Given the description of an element on the screen output the (x, y) to click on. 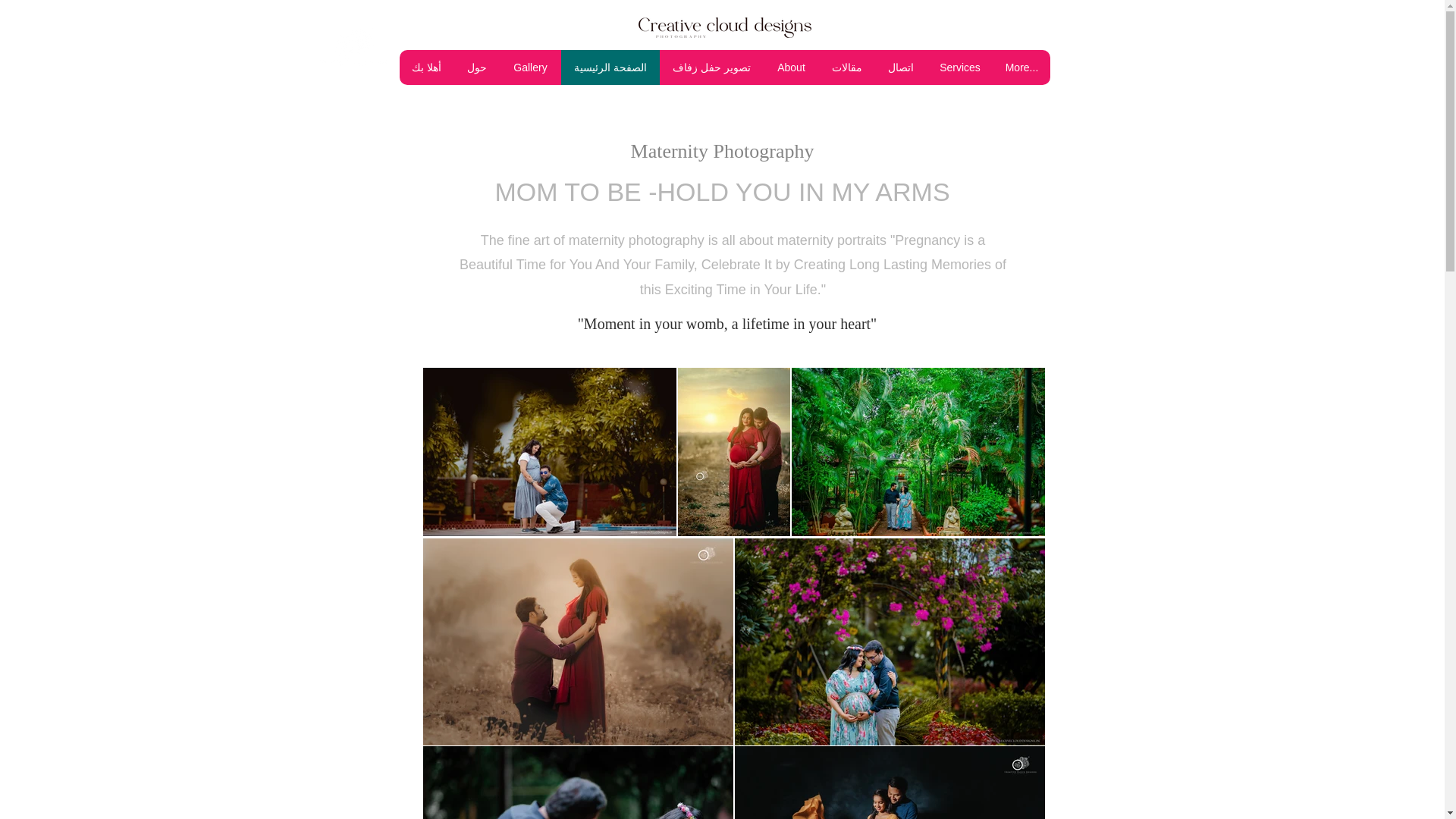
Services (959, 67)
About (790, 67)
Gallery (529, 67)
Candid Wedding Photography (352, 46)
Embedded Content (946, 12)
